Given the description of an element on the screen output the (x, y) to click on. 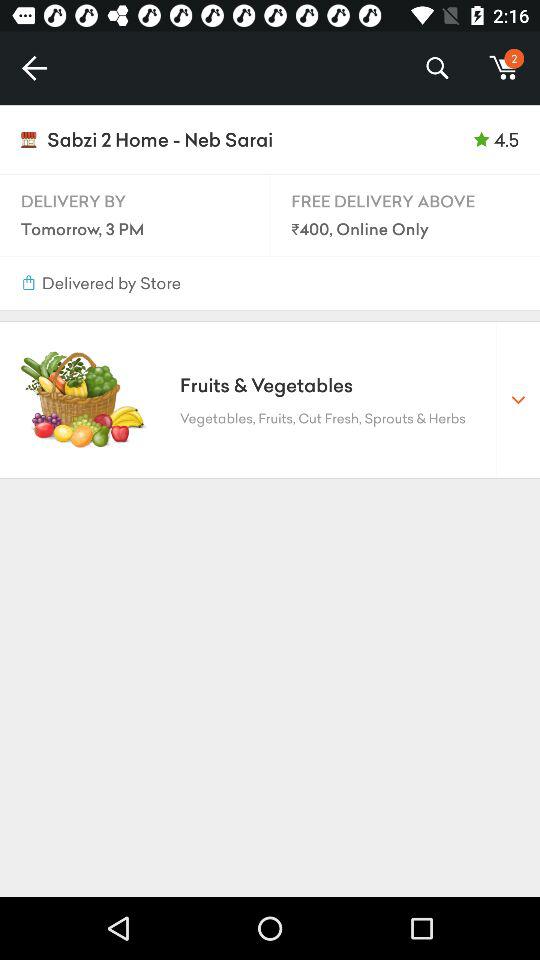
choose the item to the left of % item (33, 67)
